Given the description of an element on the screen output the (x, y) to click on. 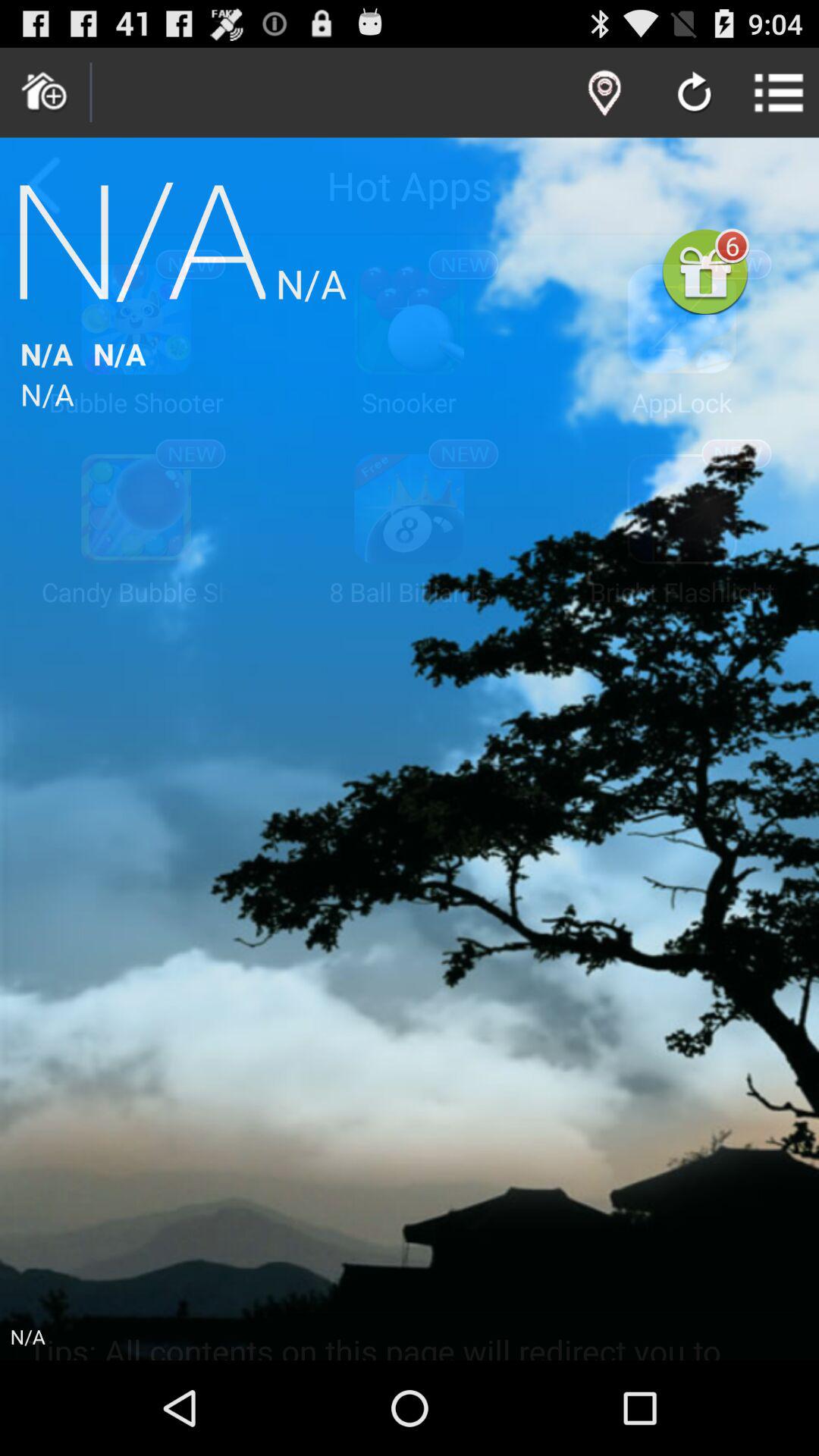
add home location (44, 92)
